Given the description of an element on the screen output the (x, y) to click on. 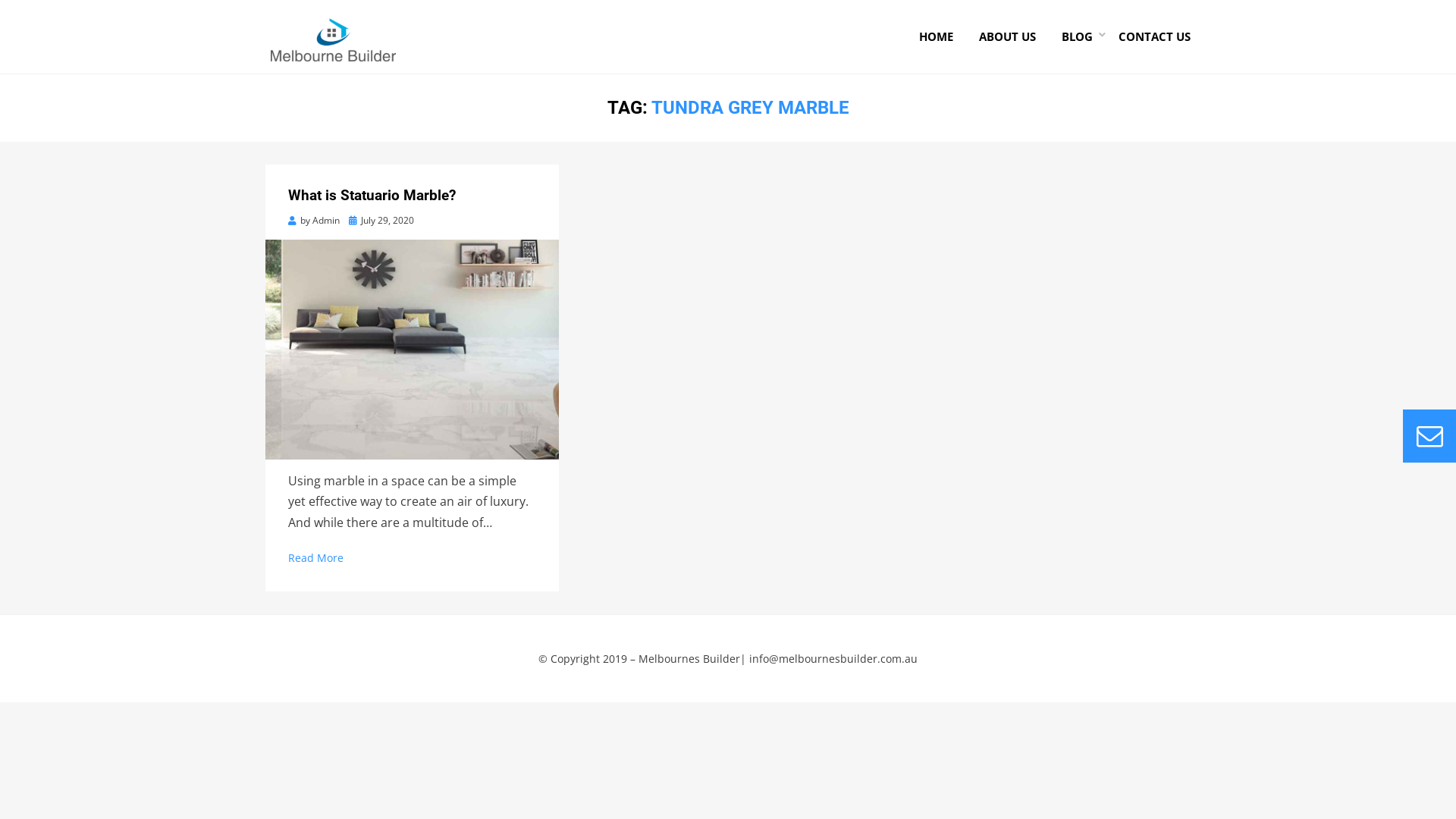
BLOG Element type: text (1076, 36)
Melbournes Builder Element type: text (689, 658)
HOME Element type: text (936, 36)
info@melbournesbuilder.com.au Element type: text (833, 658)
ABOUT US Element type: text (1007, 36)
Admin Element type: text (325, 219)
CONTACT US Element type: text (1147, 36)
July 29, 2020 Element type: text (381, 219)
BestBlogThemes Element type: text (388, 679)
WordPress Element type: text (509, 679)
What is Statuario Marble? Element type: text (371, 194)
Read More Element type: text (315, 557)
